Given the description of an element on the screen output the (x, y) to click on. 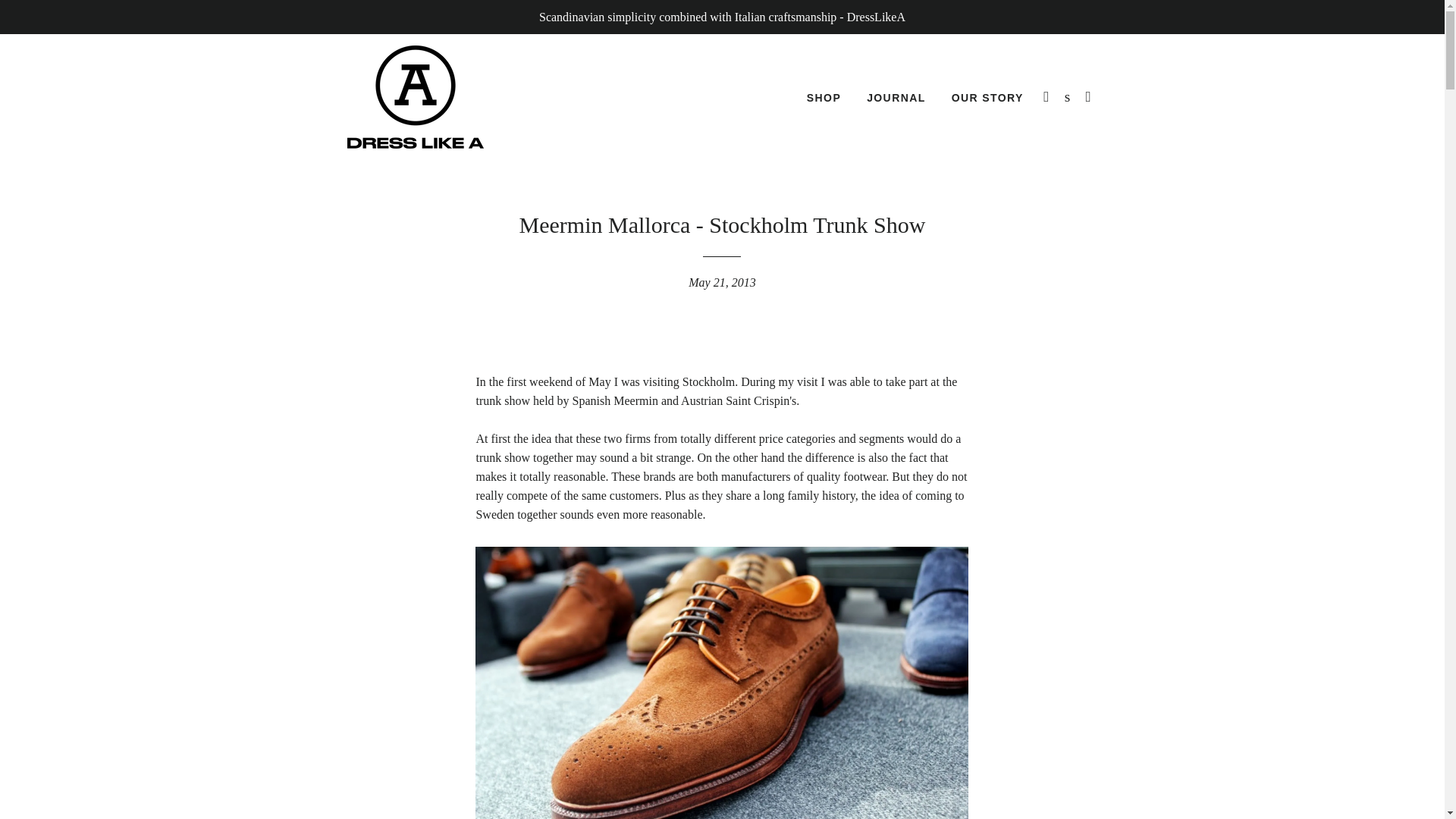
SHOP (822, 97)
JOURNAL (896, 97)
OUR STORY (987, 97)
